Given the description of an element on the screen output the (x, y) to click on. 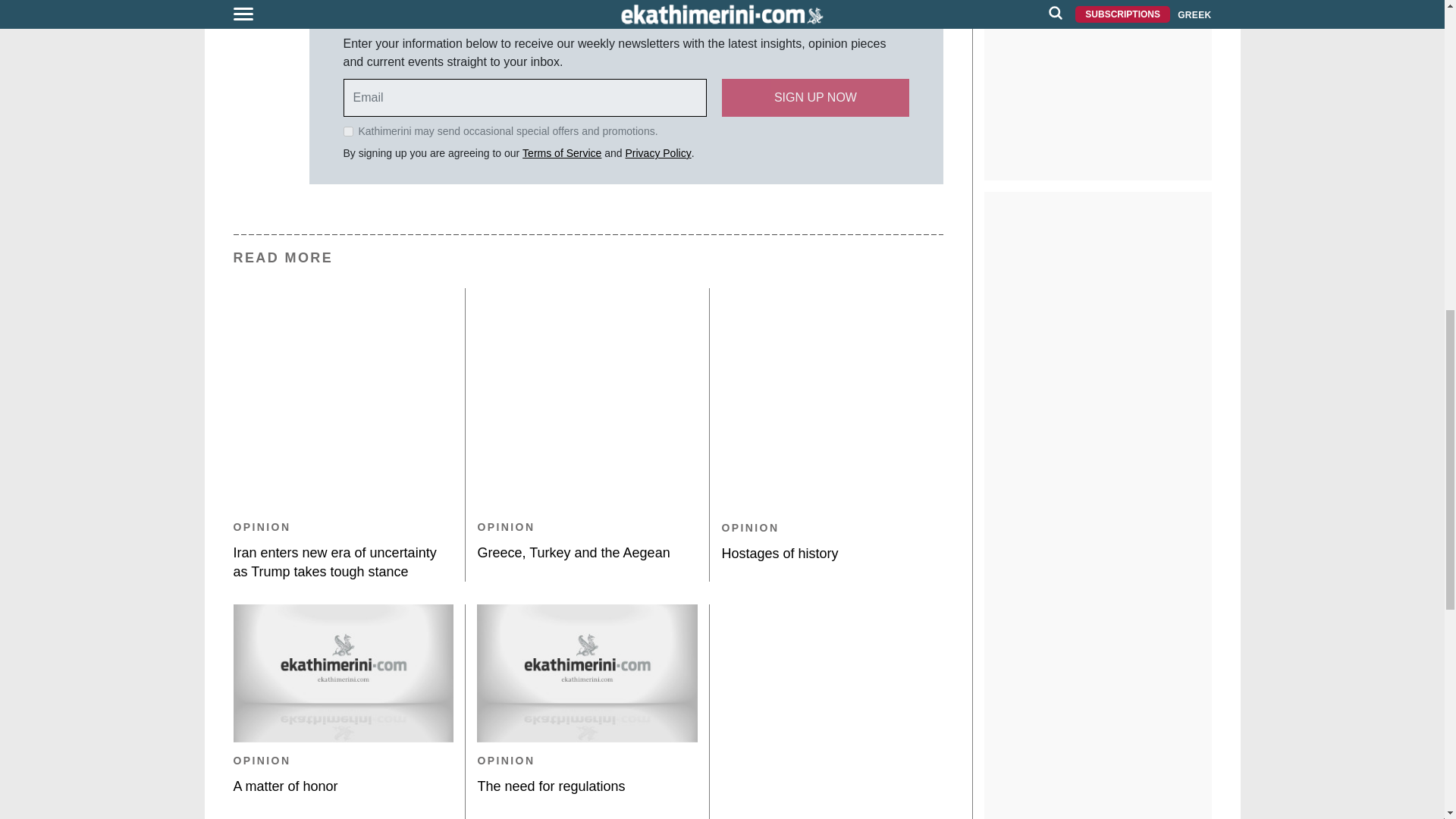
on (347, 131)
